Given the description of an element on the screen output the (x, y) to click on. 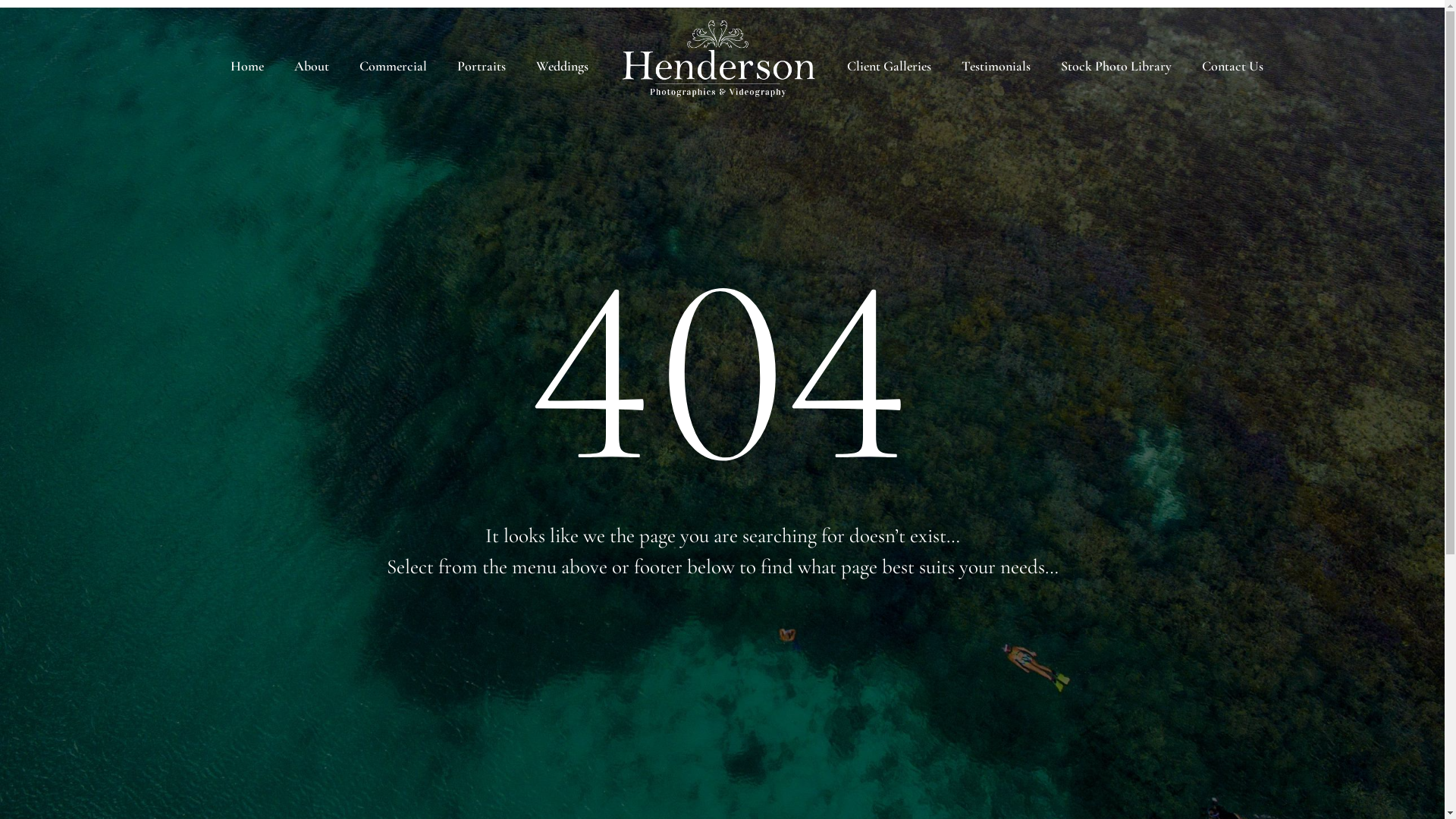
About Element type: text (311, 66)
Contact Us Element type: text (1232, 66)
Commercial Element type: text (392, 66)
Stock Photo Library Element type: text (1115, 66)
Home Element type: text (246, 66)
Testimonials Element type: text (995, 66)
Portraits Element type: text (481, 66)
Weddings Element type: text (562, 66)
Client Galleries Element type: text (889, 66)
